Given the description of an element on the screen output the (x, y) to click on. 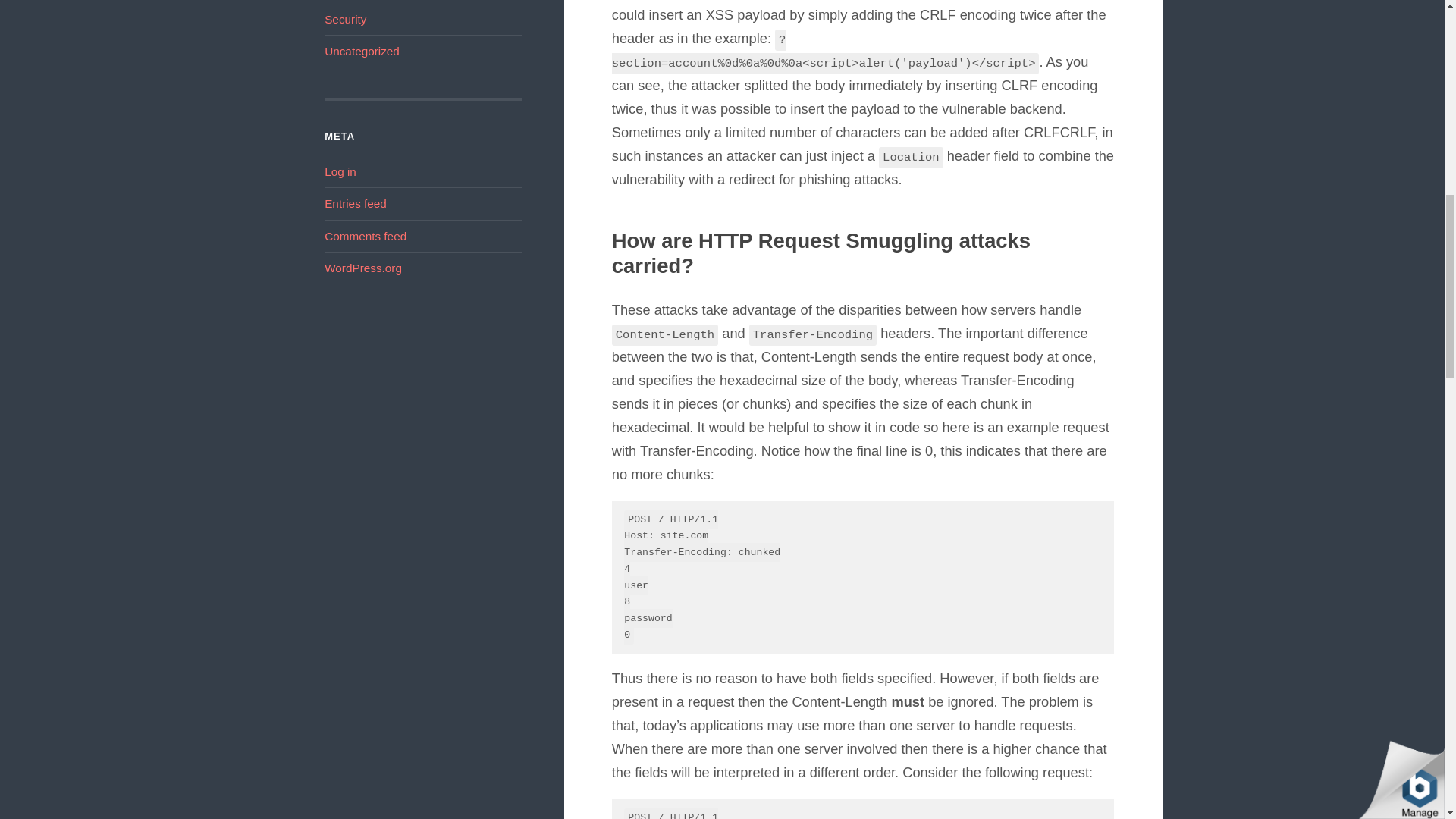
Security (345, 19)
Log in (340, 171)
Comments feed (365, 236)
Uncategorized (361, 51)
Entries feed (355, 203)
WordPress.org (362, 267)
